Given the description of an element on the screen output the (x, y) to click on. 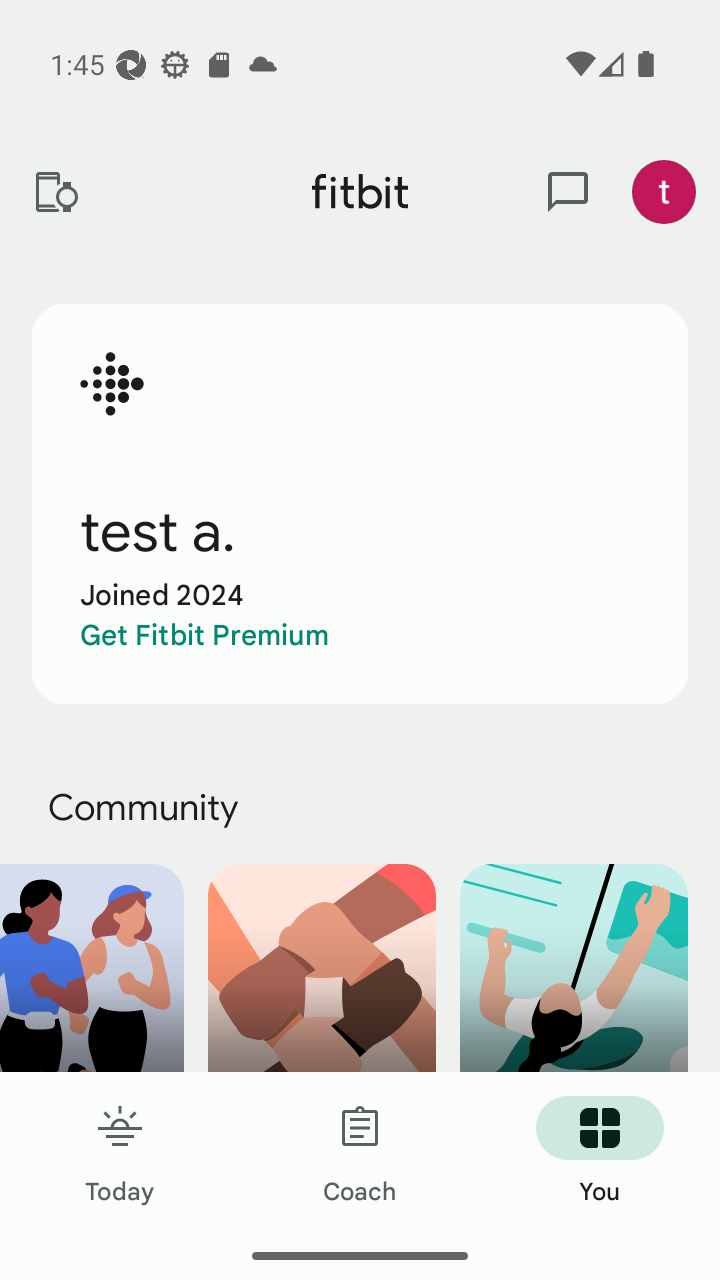
Devices and apps (55, 191)
messages and notifications (567, 191)
Get Fitbit Premium (204, 635)
Today (119, 1151)
Coach (359, 1151)
